Given the description of an element on the screen output the (x, y) to click on. 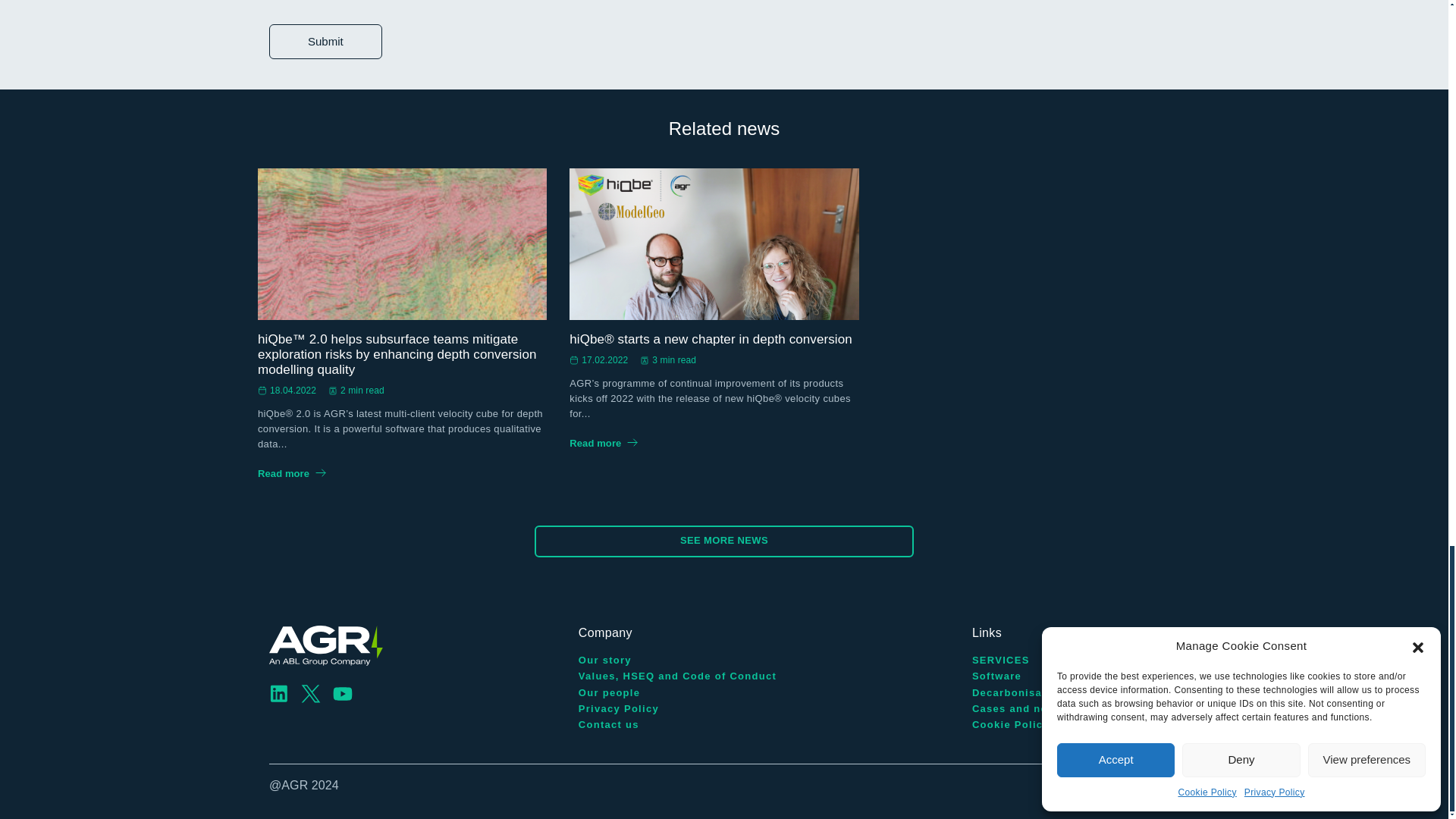
Submit (325, 41)
